Given the description of an element on the screen output the (x, y) to click on. 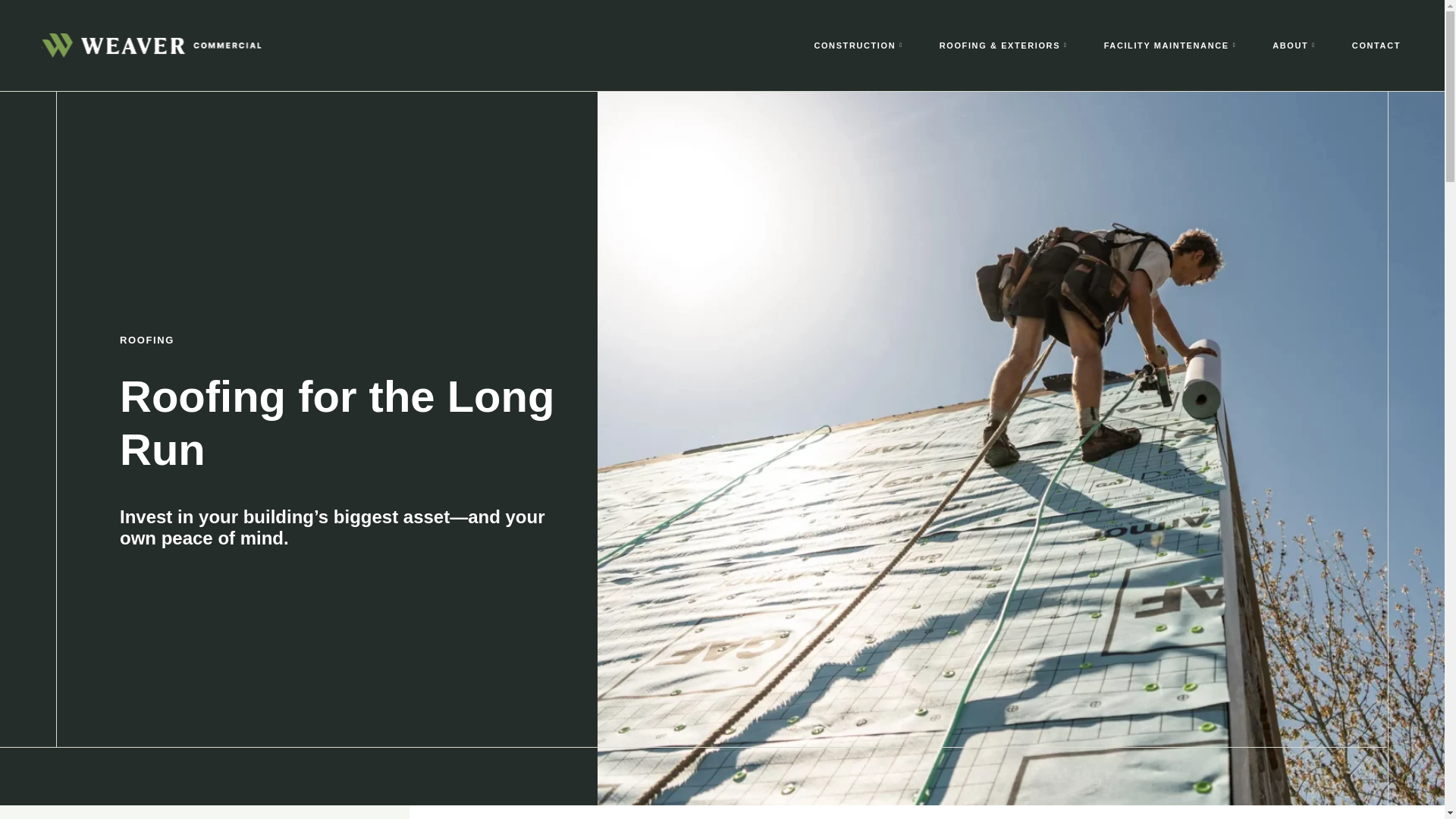
ABOUT (1294, 45)
CONSTRUCTION (858, 45)
CONTACT (1375, 45)
FACILITY MAINTENANCE (1170, 45)
